Given the description of an element on the screen output the (x, y) to click on. 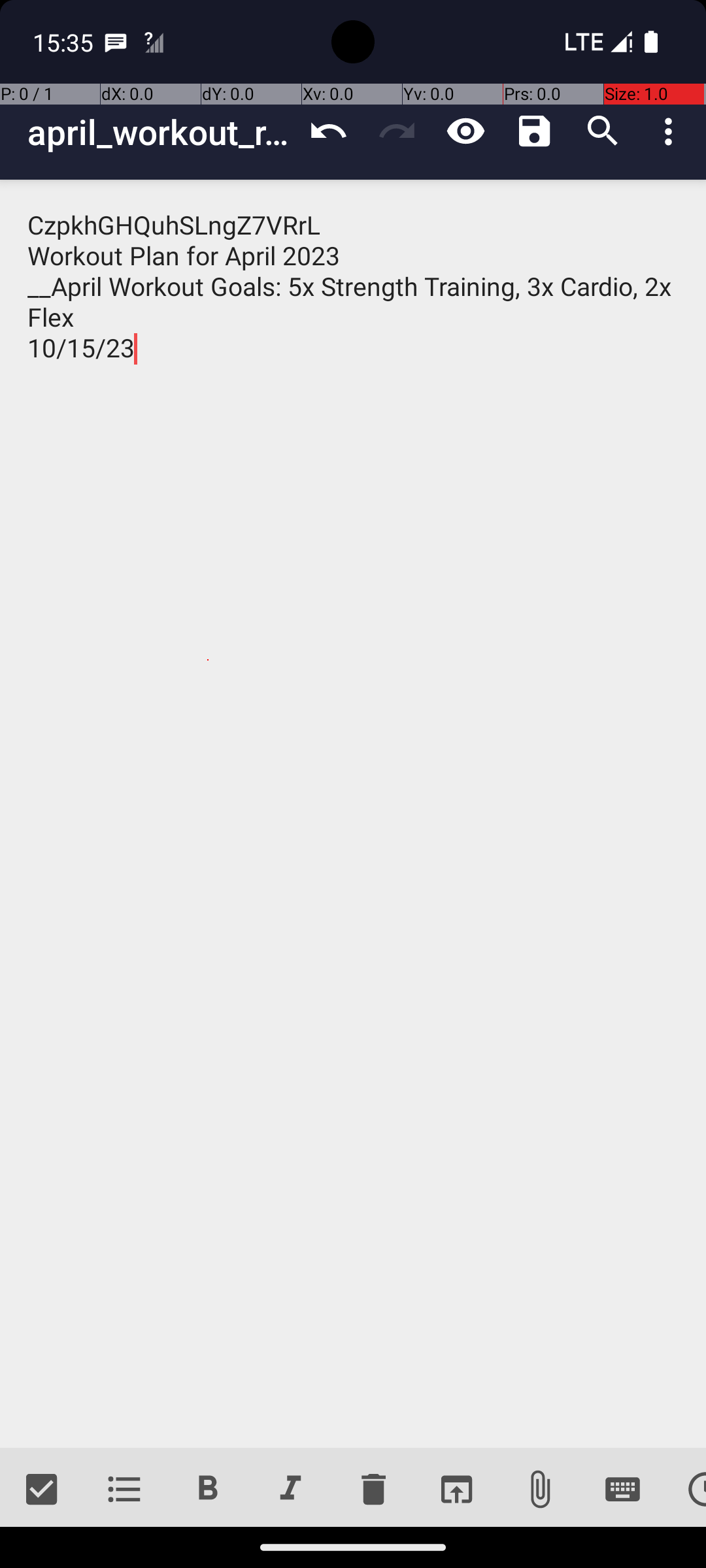
april_workout_routine_2023_01_01 Element type: android.widget.TextView (160, 131)
CzpkhGHQuhSLngZ7VRrL
Workout Plan for April 2023
__April Workout Goals: 5x Strength Training, 3x Cardio, 2x Flex
10/15/23 Element type: android.widget.EditText (353, 813)
